Given the description of an element on the screen output the (x, y) to click on. 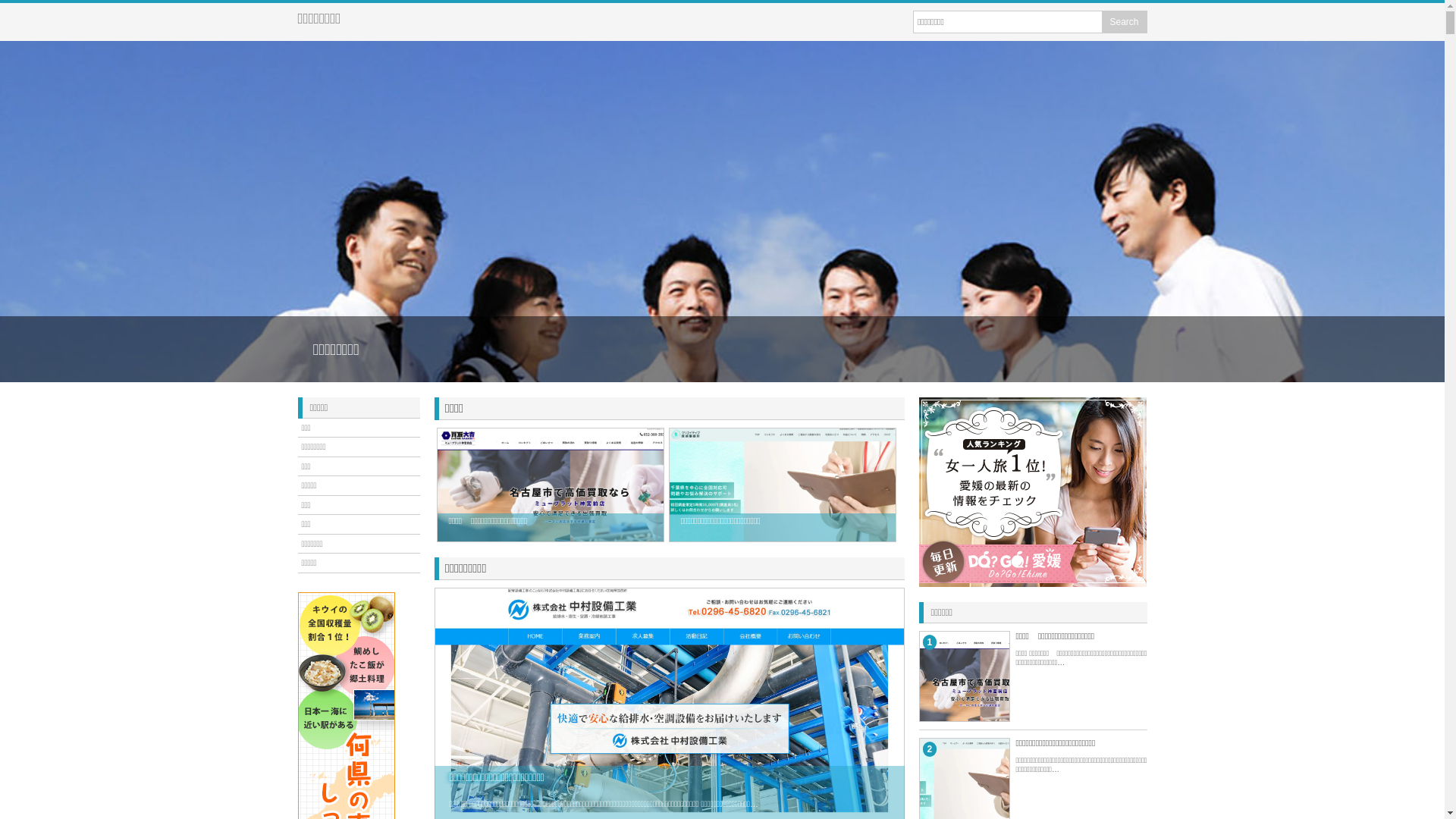
Search Element type: text (1123, 21)
1 Element type: text (1008, 756)
